Given the description of an element on the screen output the (x, y) to click on. 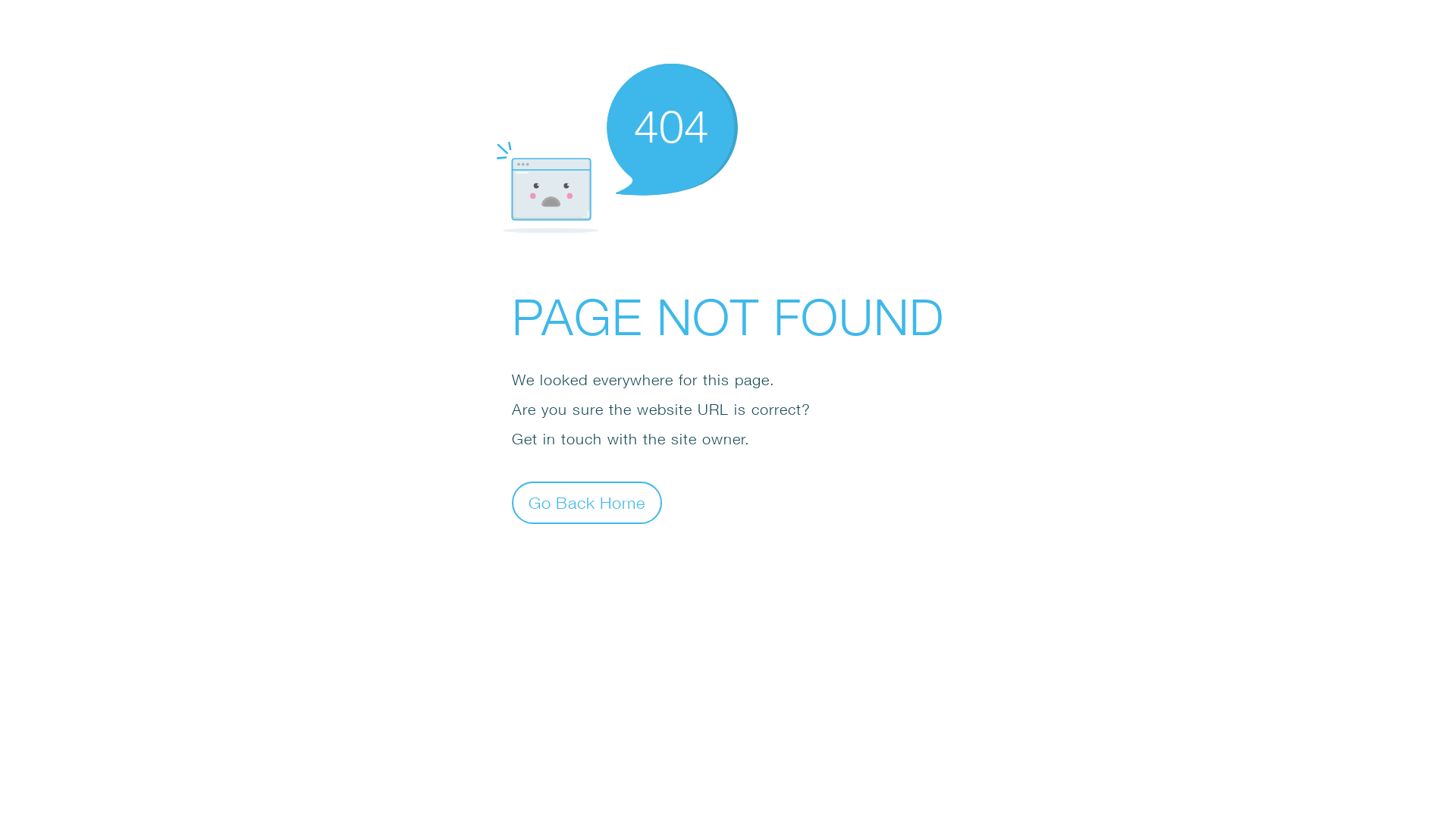
Go Back Home Element type: text (586, 502)
